Given the description of an element on the screen output the (x, y) to click on. 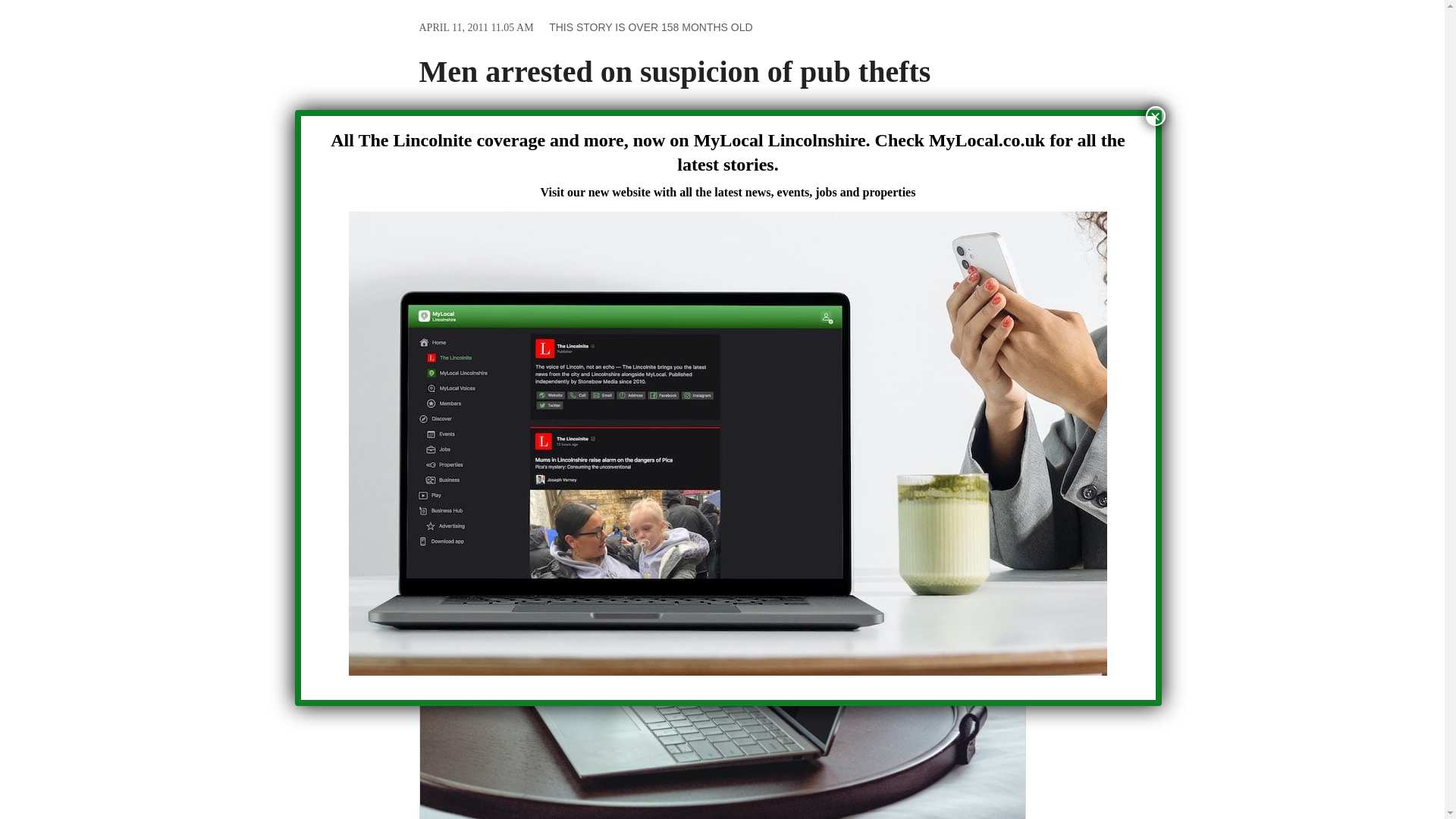
Contact author (718, 192)
